Given the description of an element on the screen output the (x, y) to click on. 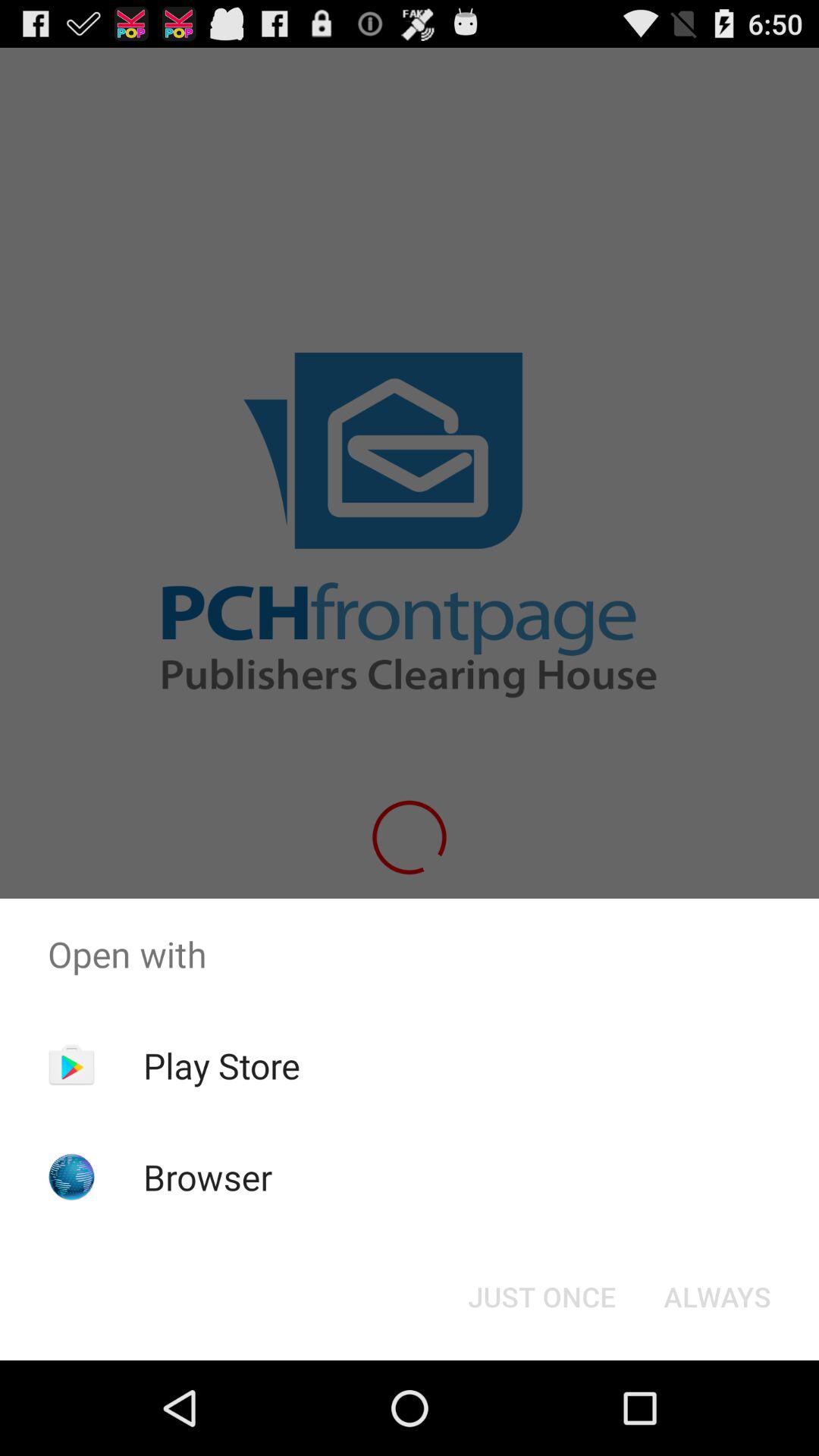
turn off just once icon (541, 1296)
